Given the description of an element on the screen output the (x, y) to click on. 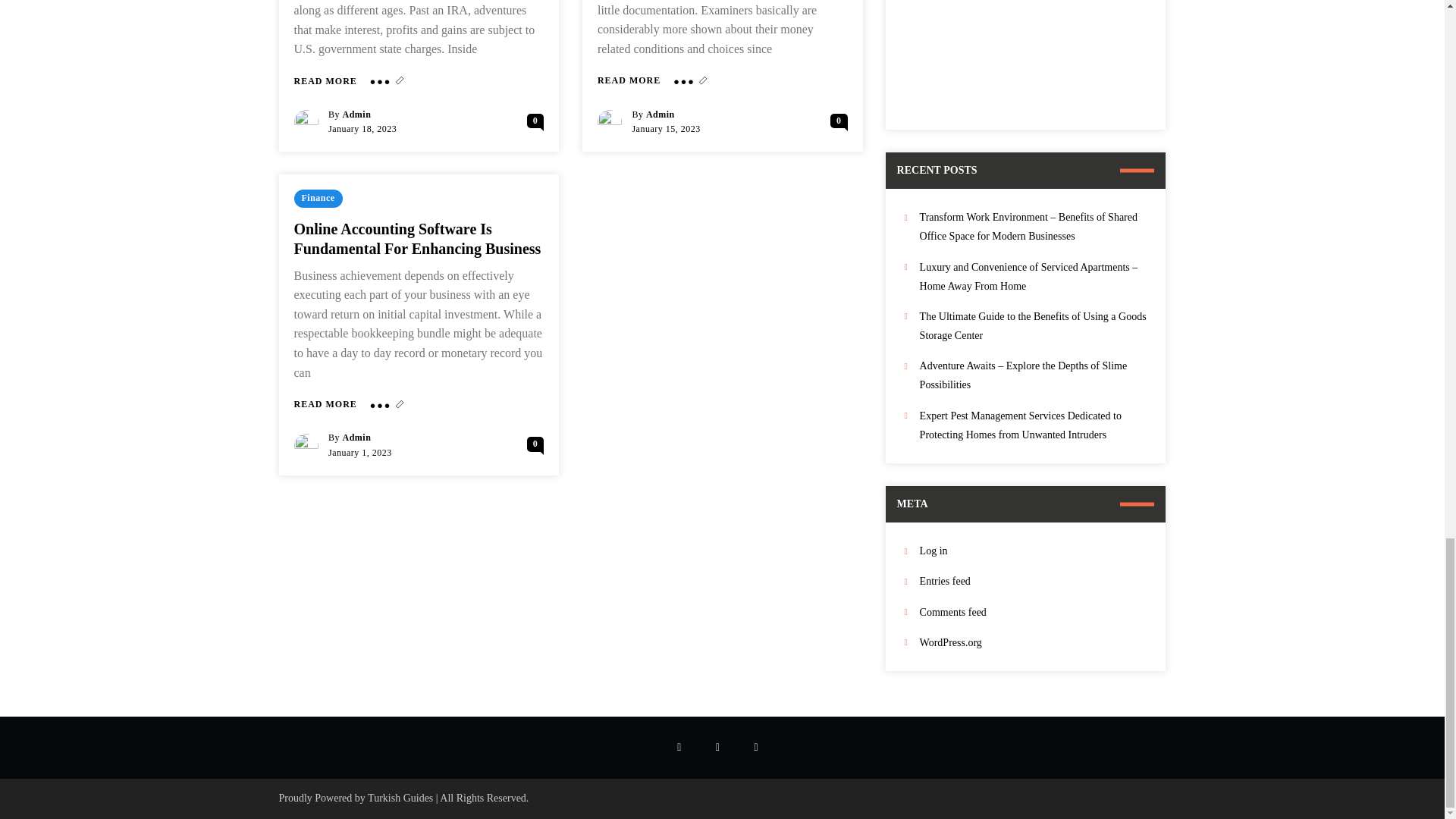
0 (838, 120)
Posts by admin (660, 113)
Admin (356, 437)
January 1, 2023 (360, 452)
Posts by admin (356, 113)
View all posts in Finance (318, 198)
January 15, 2023 (665, 128)
Hard Money Business Loans Approval Uncovered for You (628, 80)
Admin (660, 113)
0 (535, 120)
